Given the description of an element on the screen output the (x, y) to click on. 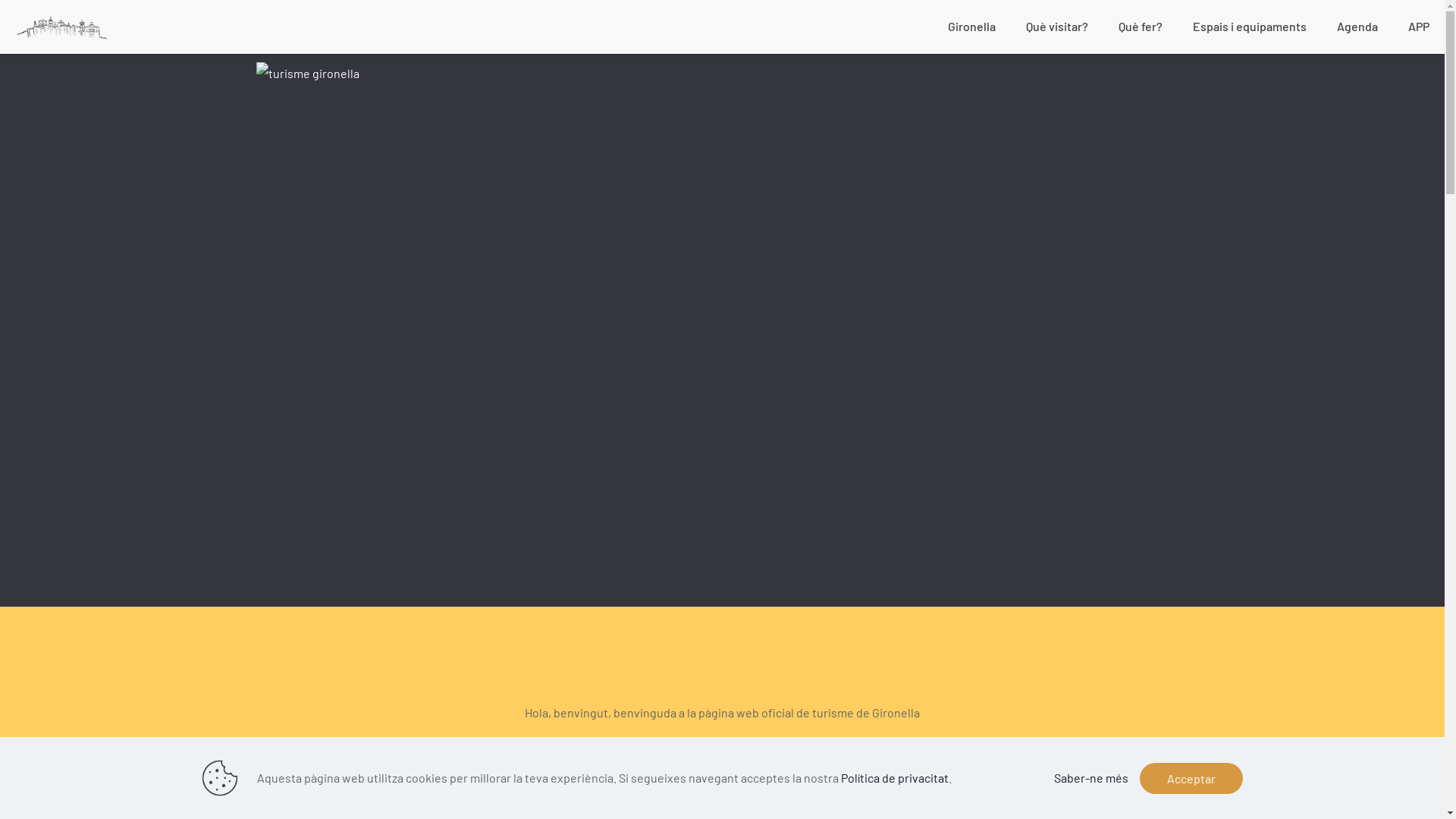
Gironella Element type: text (971, 26)
Agenda Element type: text (1357, 26)
visitgironella Element type: hover (62, 26)
APP Element type: text (1418, 26)
Espais i equipaments Element type: text (1249, 26)
Acceptar Element type: text (1190, 777)
